Given the description of an element on the screen output the (x, y) to click on. 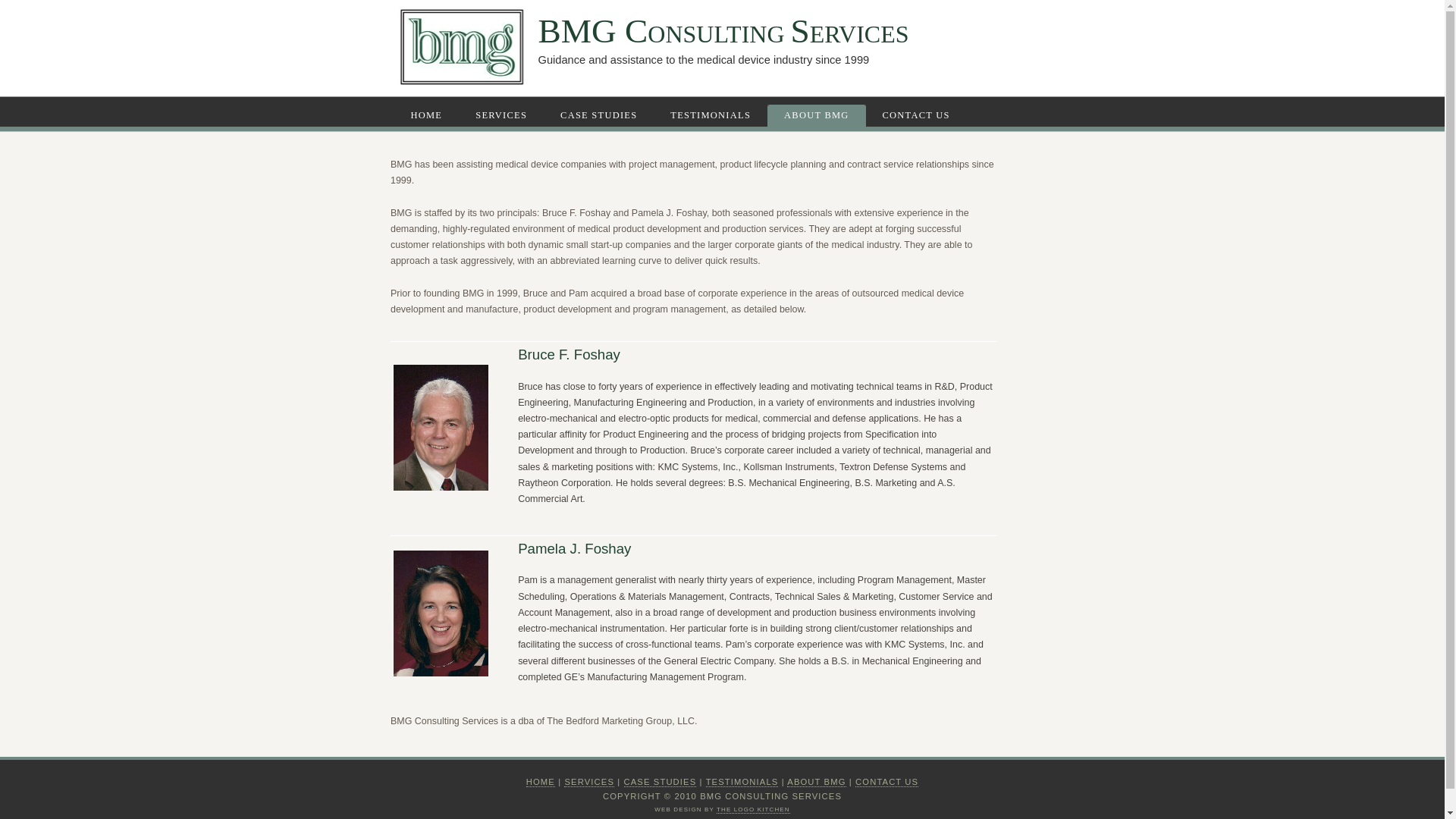
THE LOGO KITCHEN (753, 809)
SERVICES (503, 115)
HOME (539, 782)
ABOUT BMG (816, 782)
SERVICES (589, 782)
ABOUT BMG (817, 115)
TESTIMONIALS (712, 115)
CONTACT US (918, 115)
CASE STUDIES (660, 782)
CASE STUDIES (600, 115)
CONTACT US (887, 782)
HOME (429, 115)
TESTIMONIALS (742, 782)
BMG CONSULTING SERVICES (723, 30)
